Given the description of an element on the screen output the (x, y) to click on. 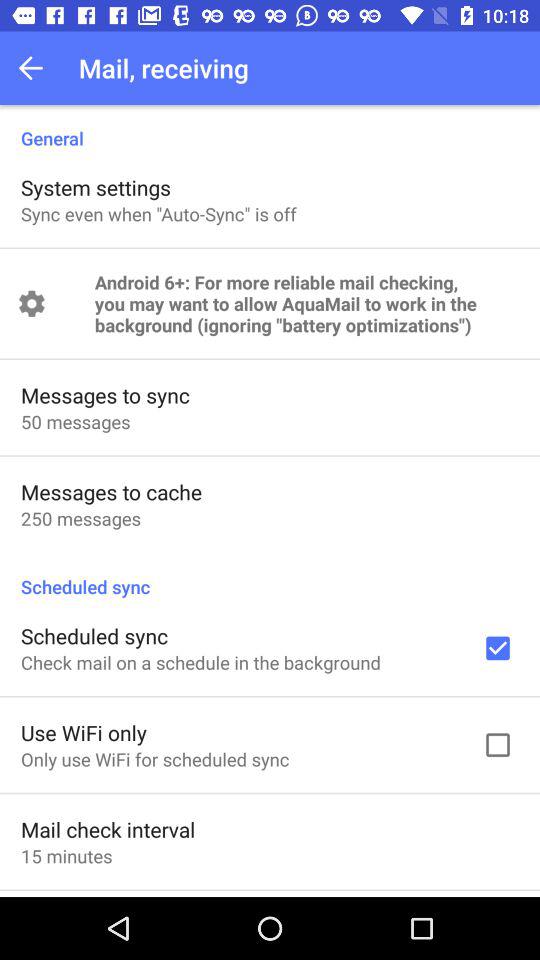
jump to the 50 messages (75, 421)
